Given the description of an element on the screen output the (x, y) to click on. 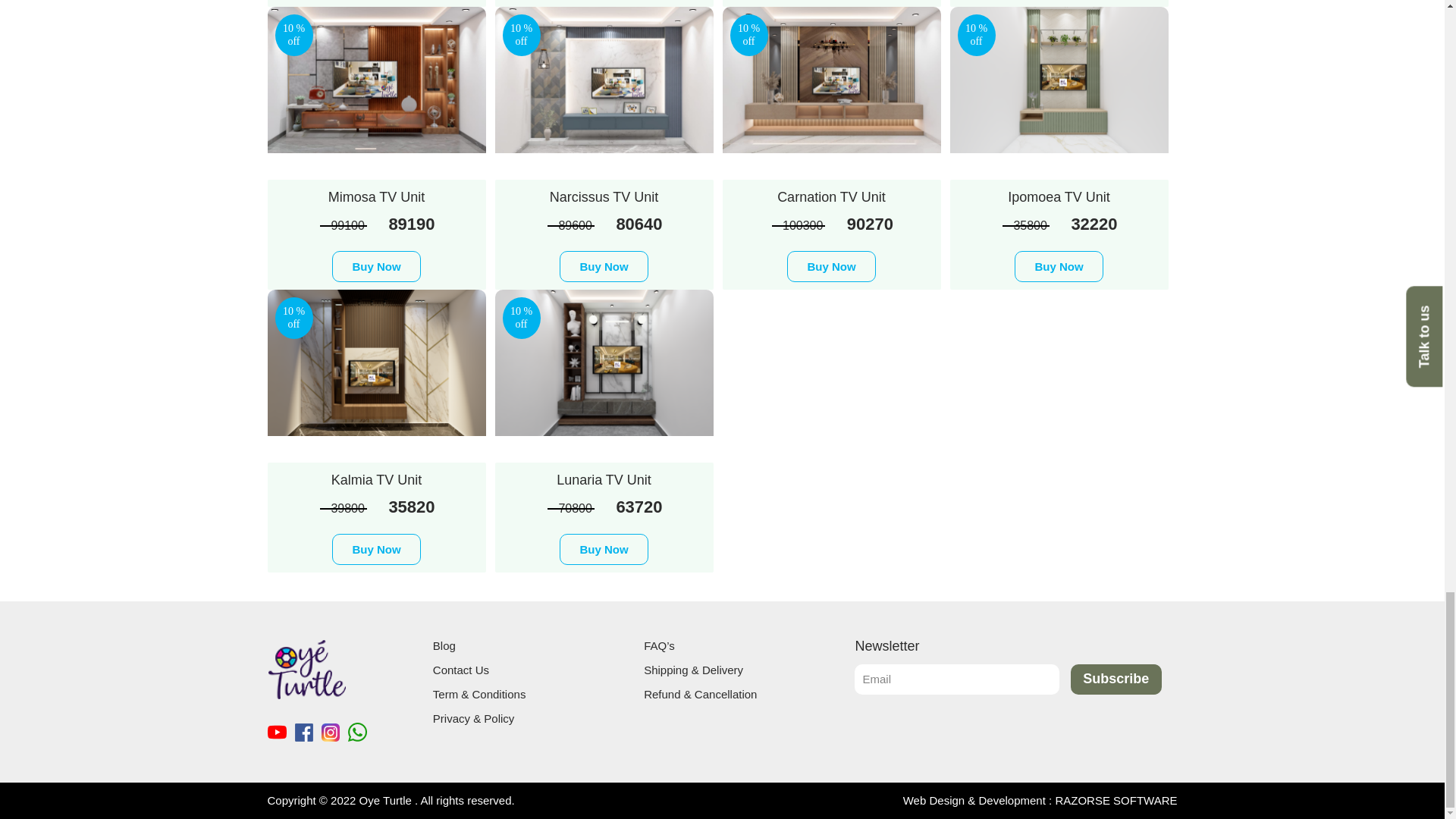
Subscribe (1115, 679)
Subscribe (1115, 679)
